Given the description of an element on the screen output the (x, y) to click on. 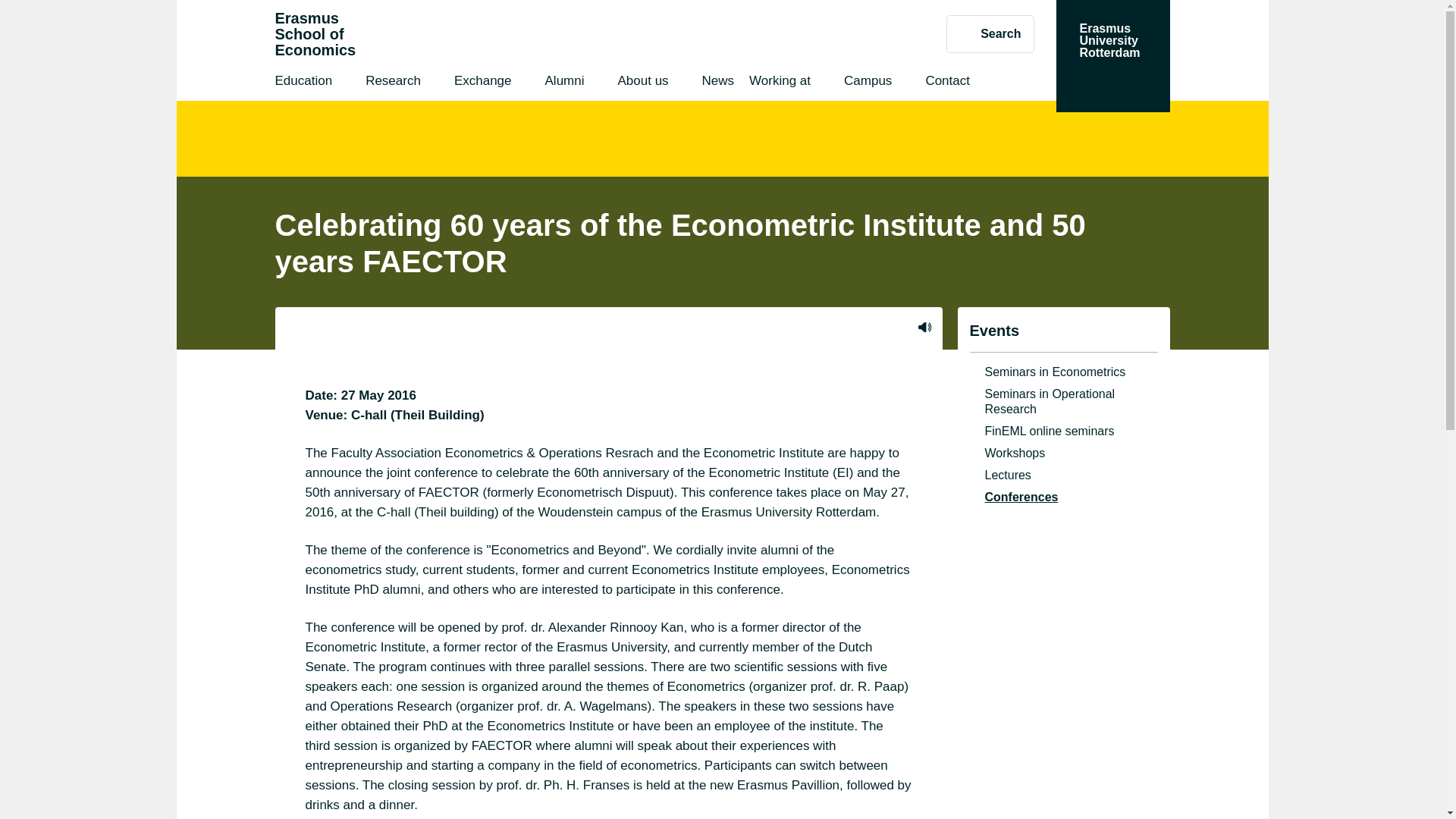
Exchange (483, 82)
Working at (779, 82)
Alumni (564, 82)
Campus (1112, 56)
Contact (868, 82)
About us (315, 34)
Search (946, 82)
Research (642, 82)
Education (989, 33)
Listen to this page using ReadSpeaker (392, 82)
News (302, 82)
